Given the description of an element on the screen output the (x, y) to click on. 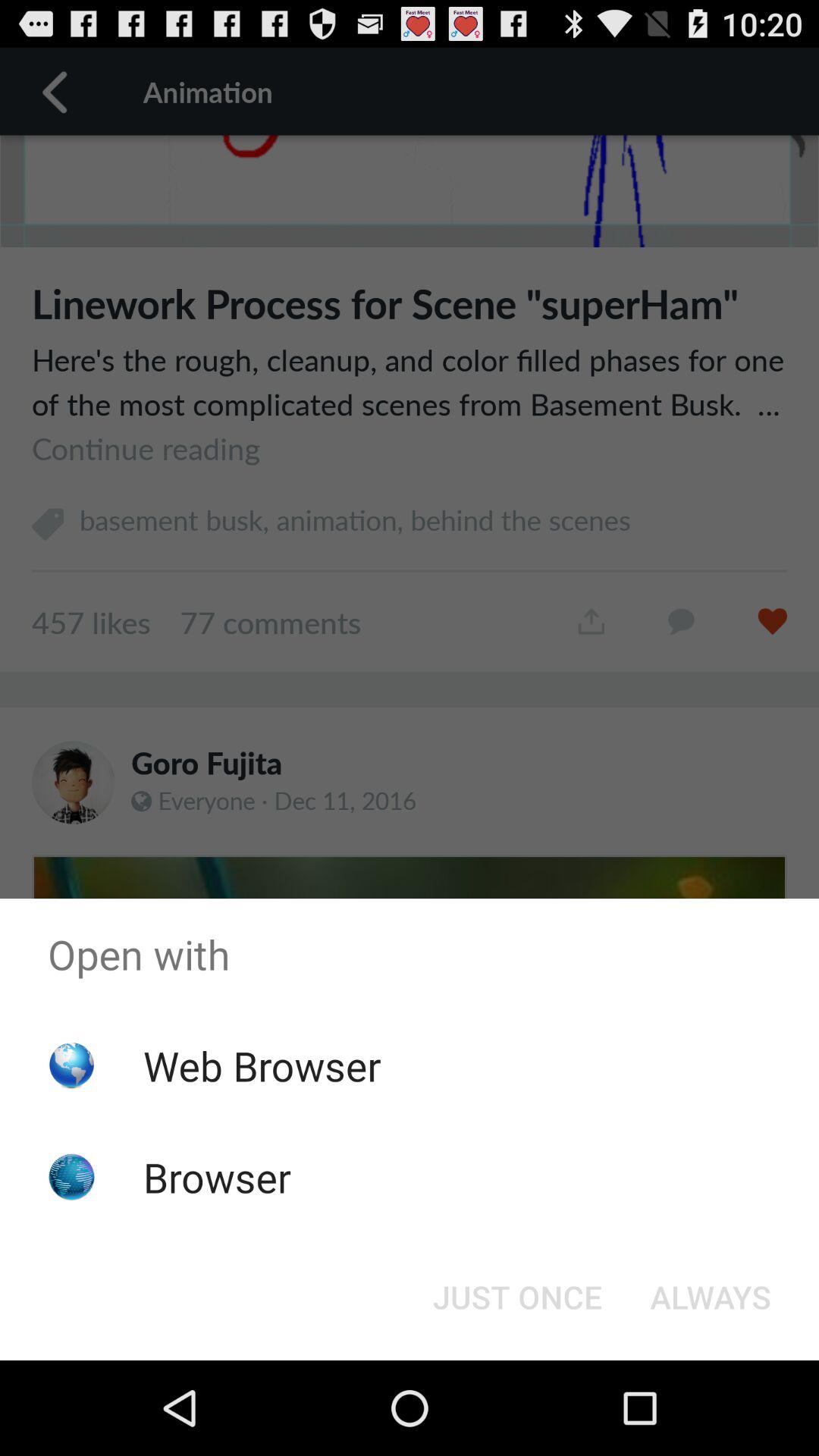
open the web browser (262, 1065)
